Given the description of an element on the screen output the (x, y) to click on. 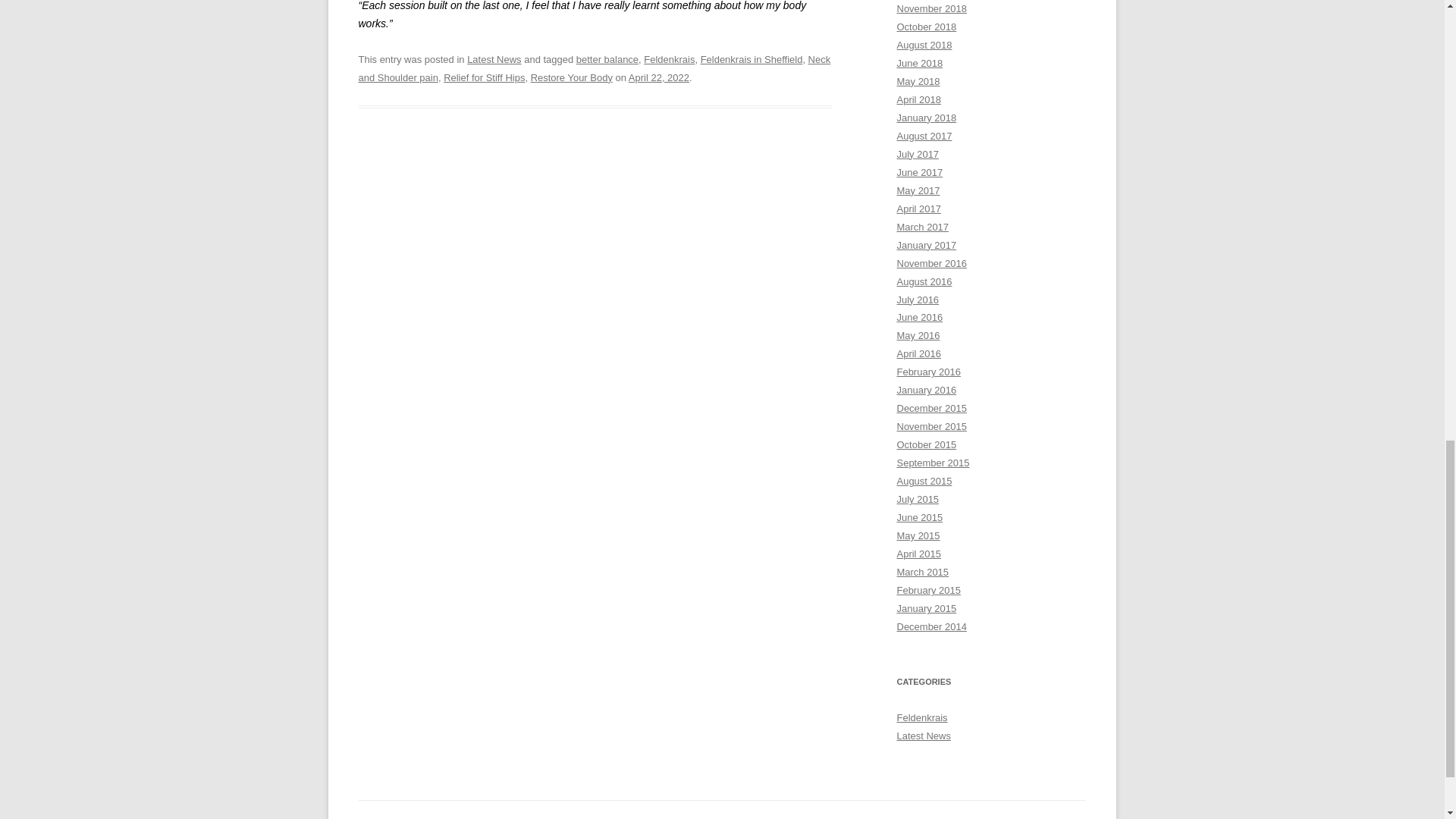
Relief for Stiff Hips (484, 77)
April 22, 2022 (658, 77)
better balance (607, 59)
Feldenkrais (668, 59)
Feldenkrais in Sheffield (751, 59)
Neck and Shoulder pain (593, 68)
Restore Your Body (571, 77)
Latest News (494, 59)
3:39 pm (658, 77)
